Given the description of an element on the screen output the (x, y) to click on. 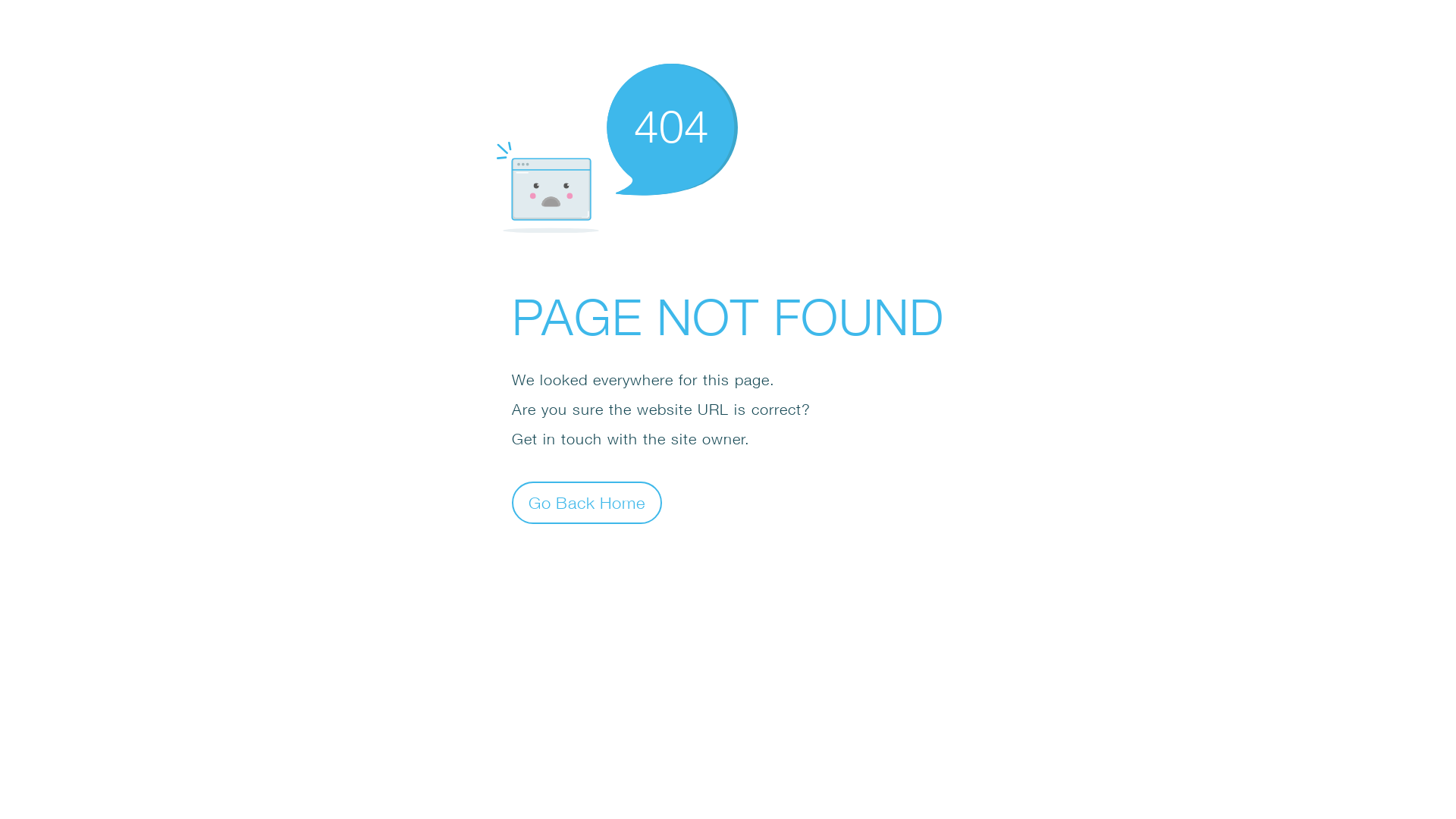
Go Back Home Element type: text (586, 502)
